Given the description of an element on the screen output the (x, y) to click on. 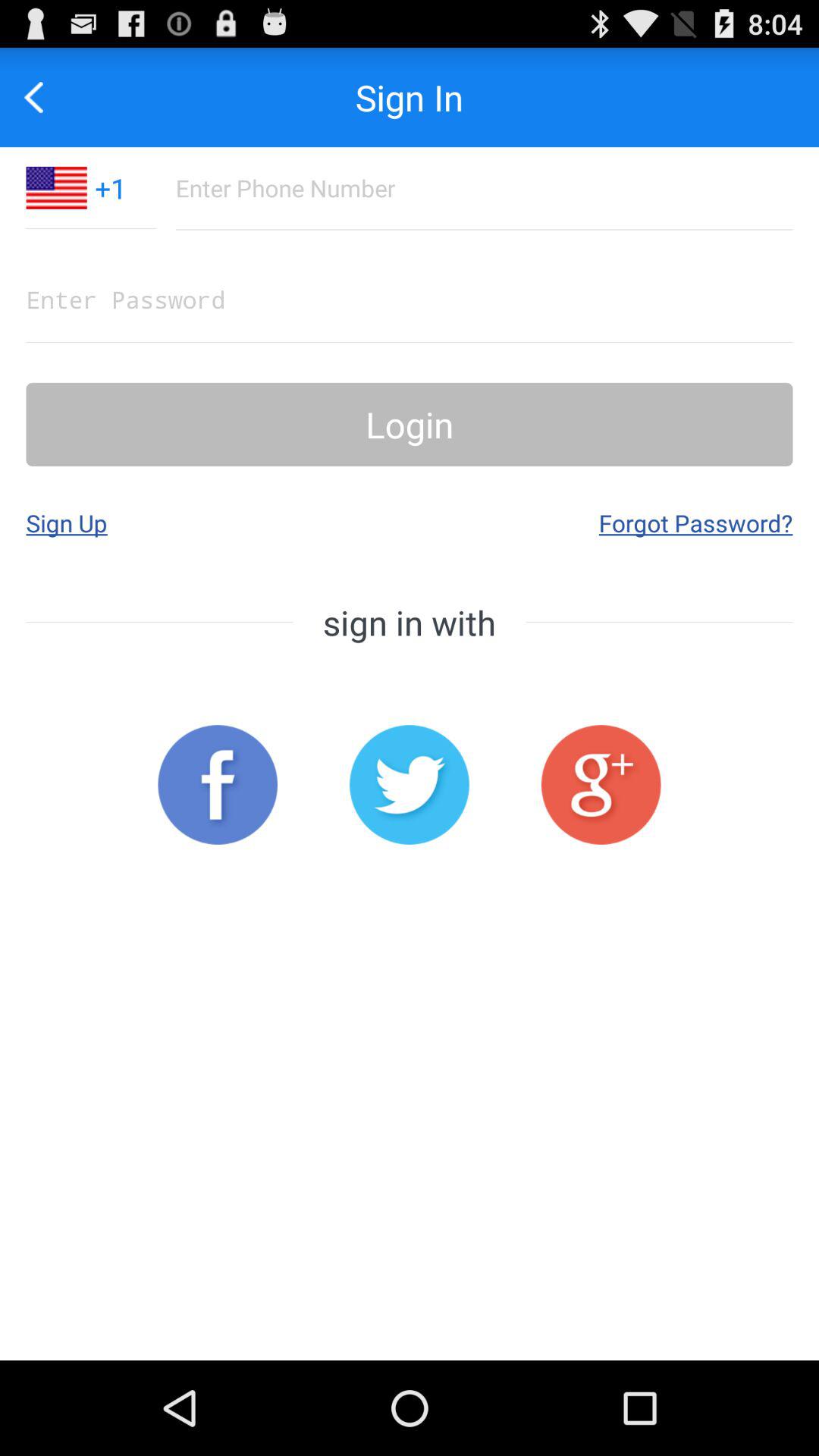
go back (41, 97)
